Given the description of an element on the screen output the (x, y) to click on. 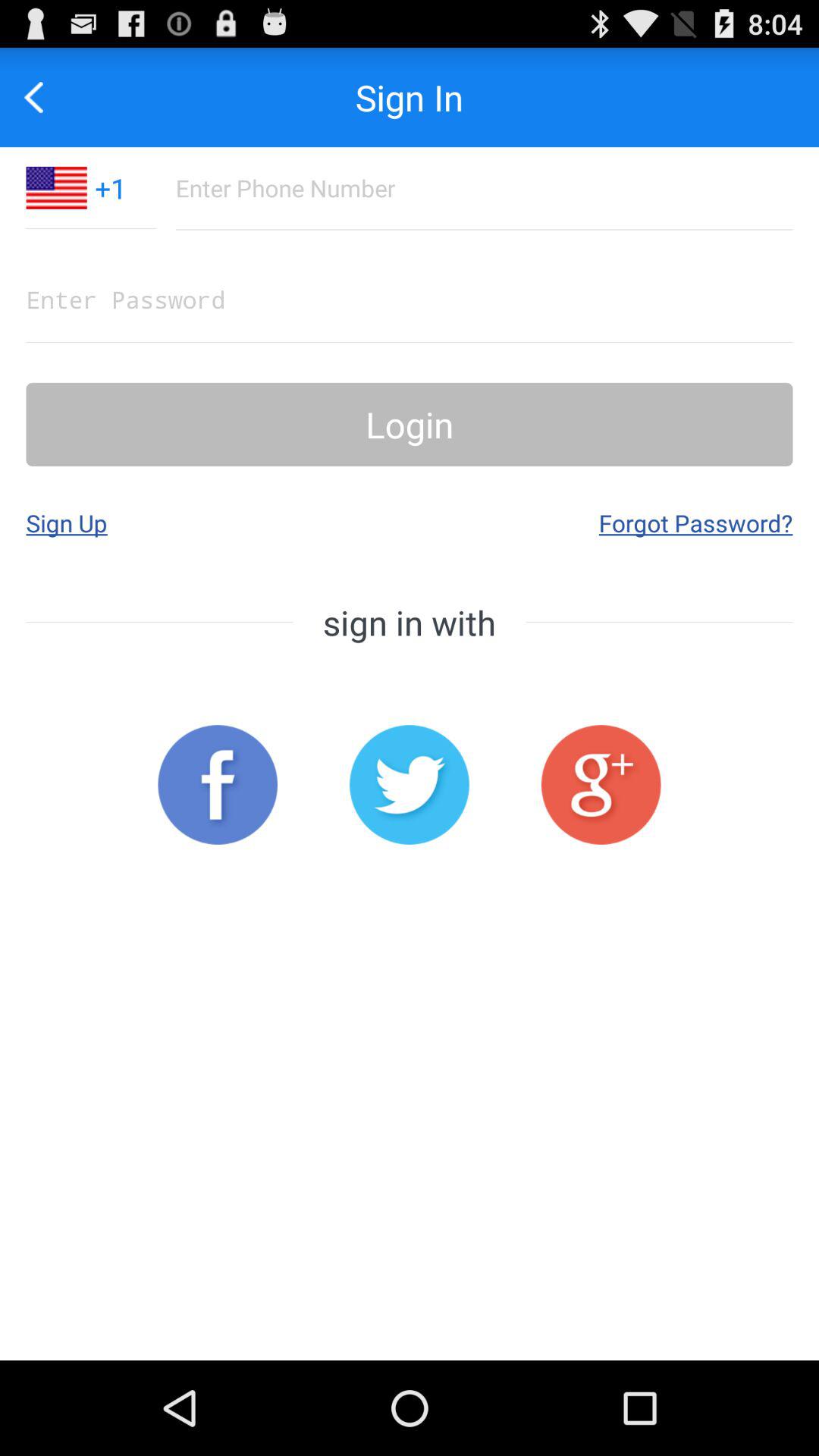
go back (41, 97)
